Given the description of an element on the screen output the (x, y) to click on. 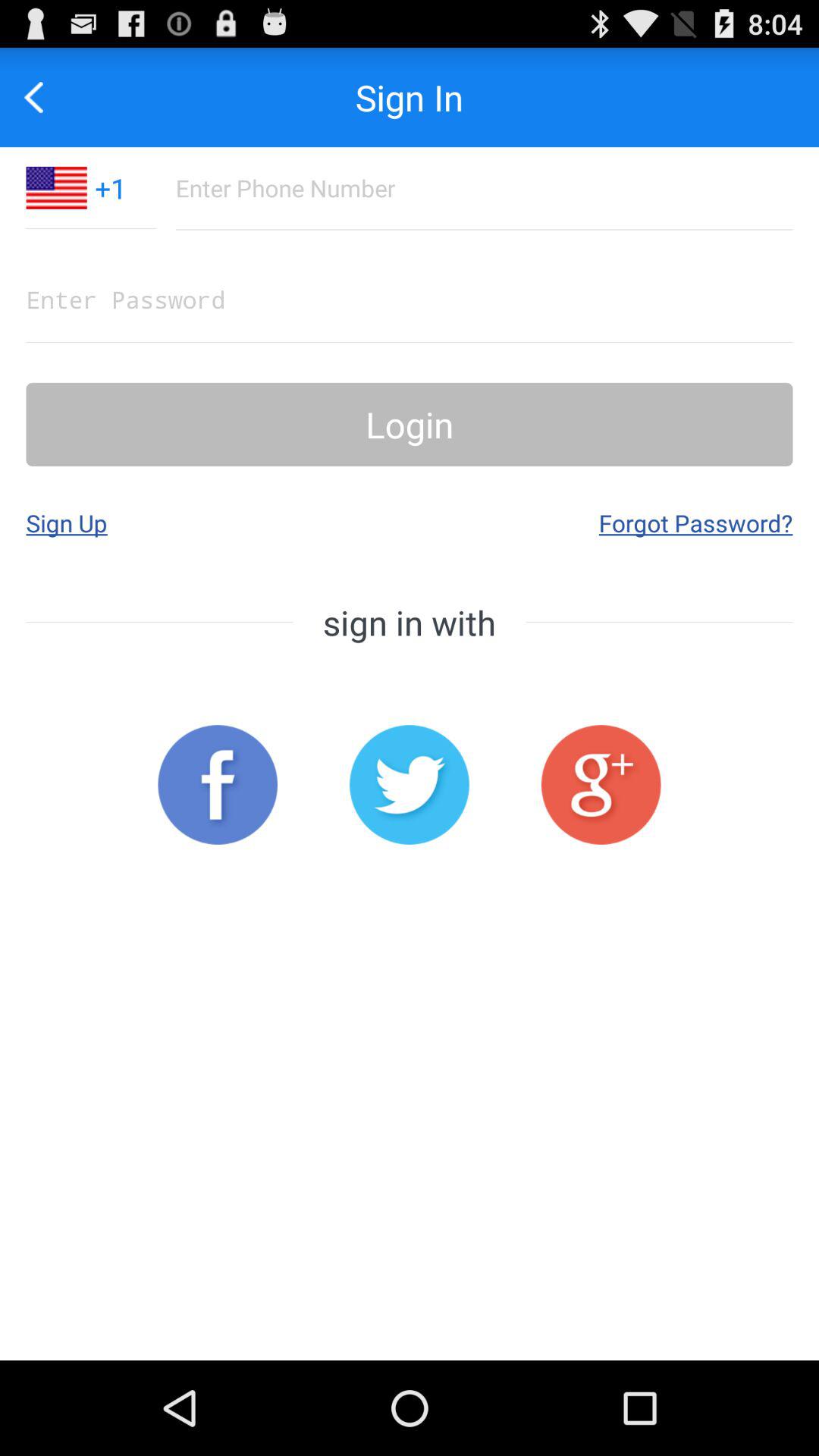
go back (41, 97)
